Given the description of an element on the screen output the (x, y) to click on. 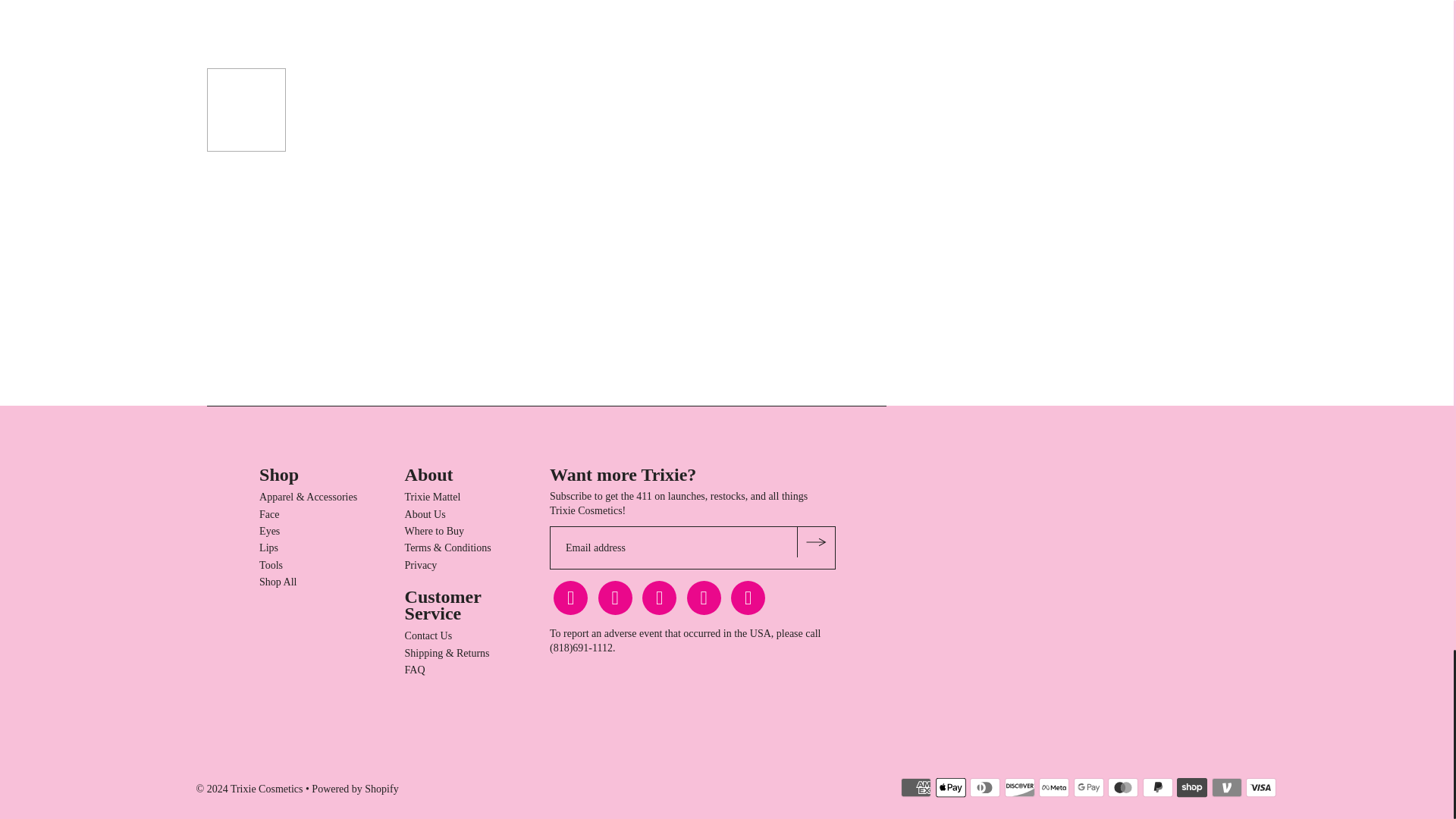
Diners Club (984, 787)
Venmo (1226, 787)
Apple Pay (951, 787)
Google Pay (1088, 787)
Discover (1019, 787)
American Express (916, 787)
Meta Pay (1053, 787)
Shop Pay (1191, 787)
Mastercard (1123, 787)
Visa (1261, 787)
